Given the description of an element on the screen output the (x, y) to click on. 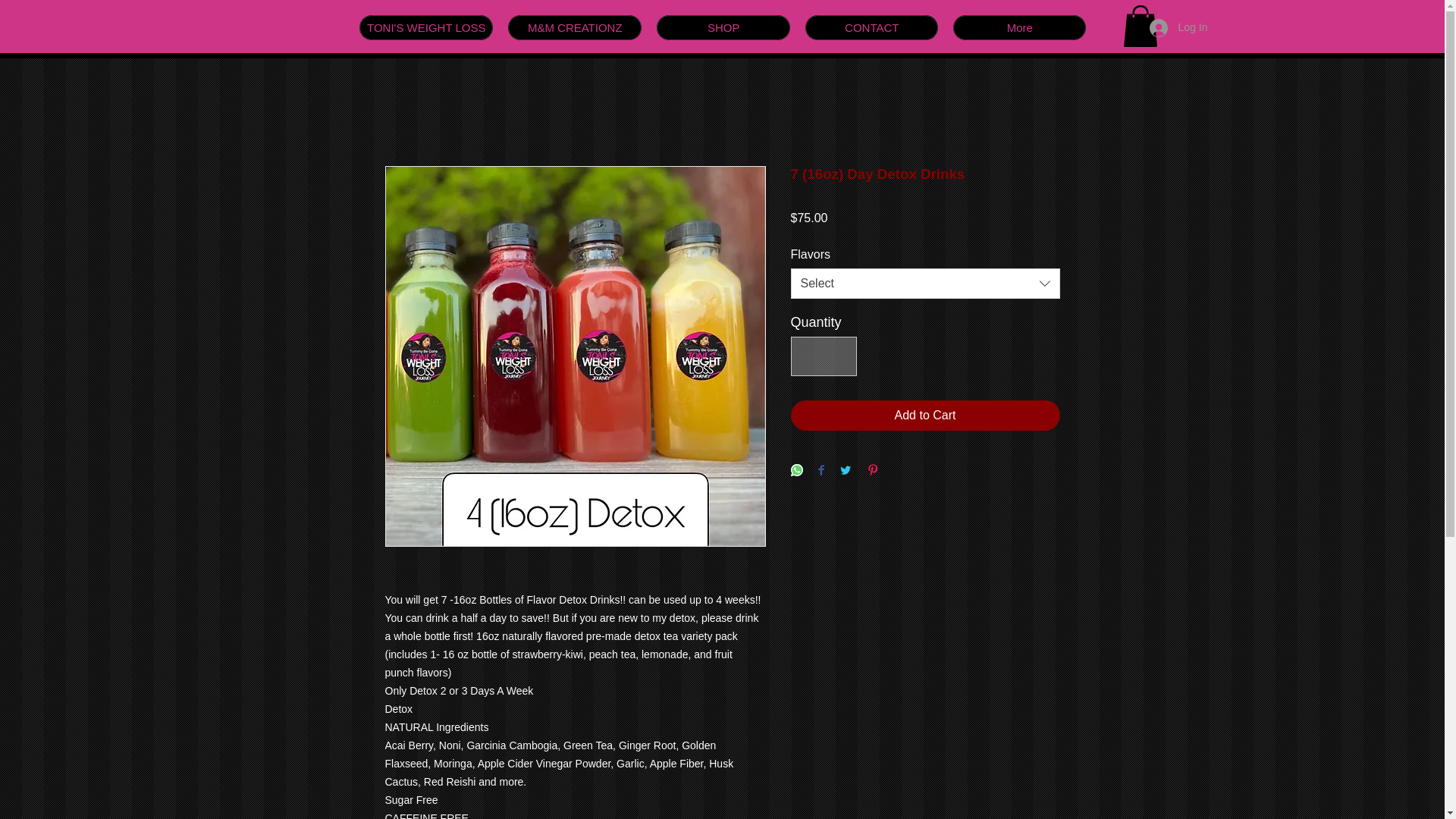
SHOP (723, 27)
Select (924, 283)
1 (823, 355)
Add to Cart (924, 415)
TONI'S WEIGHT LOSS (426, 27)
Log In (1178, 27)
CONTACT (871, 27)
